Given the description of an element on the screen output the (x, y) to click on. 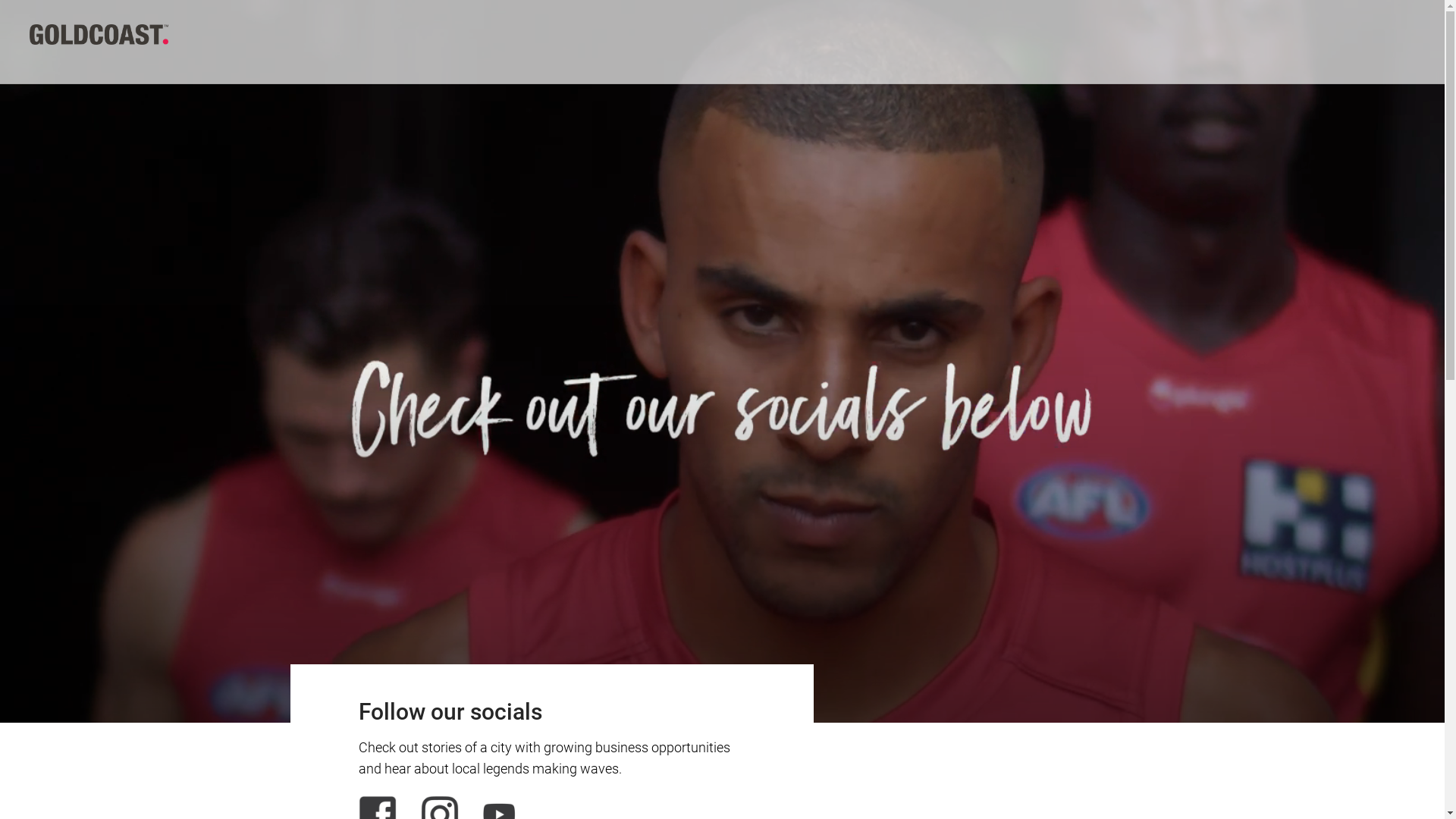
Wearegc Element type: hover (98, 32)
